Given the description of an element on the screen output the (x, y) to click on. 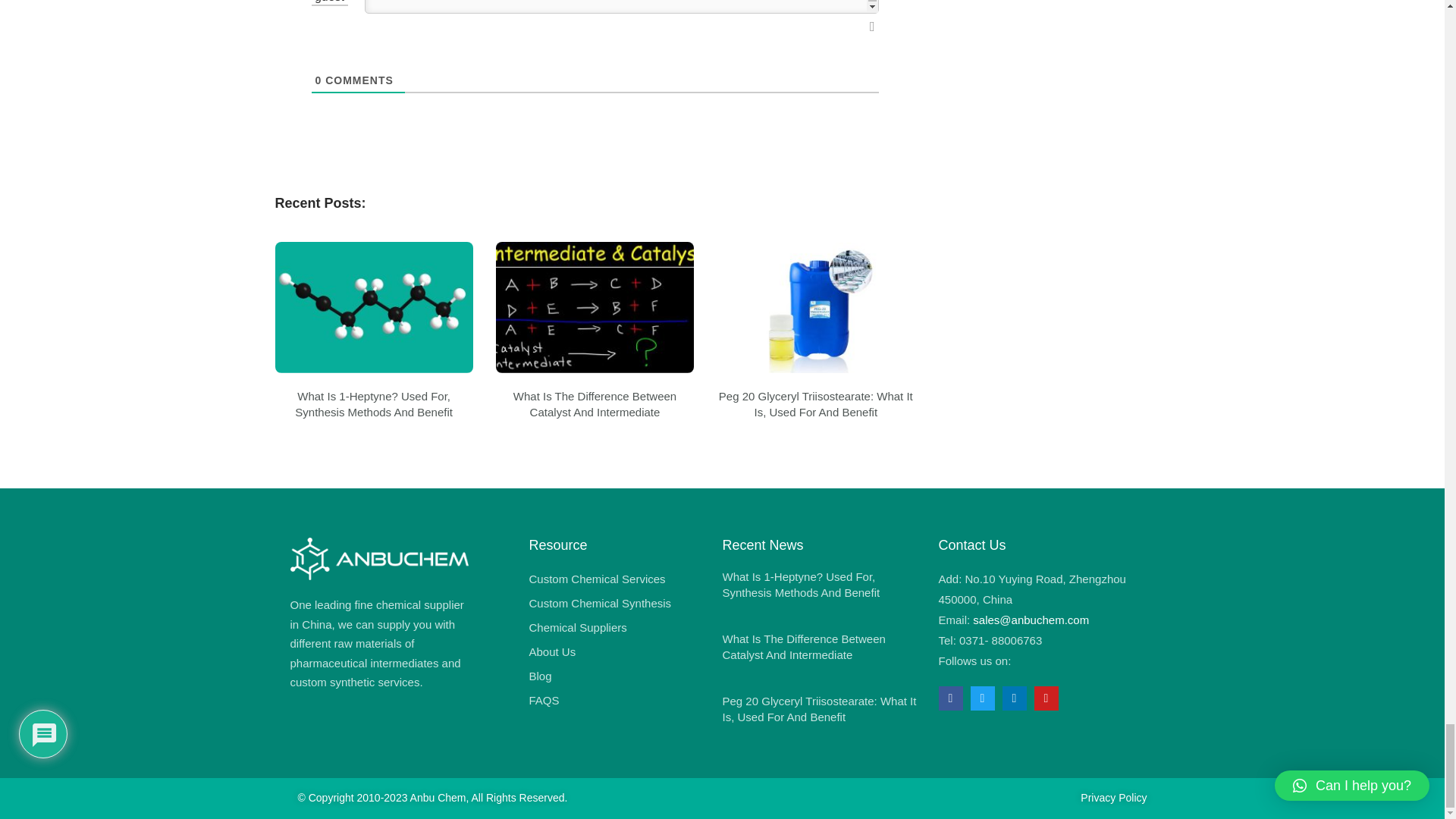
What Is 1-Heptyne? Used For, Synthesis Methods And Benefit (373, 403)
What Is The Difference Between Catalyst And Intermediate (595, 403)
